Given the description of an element on the screen output the (x, y) to click on. 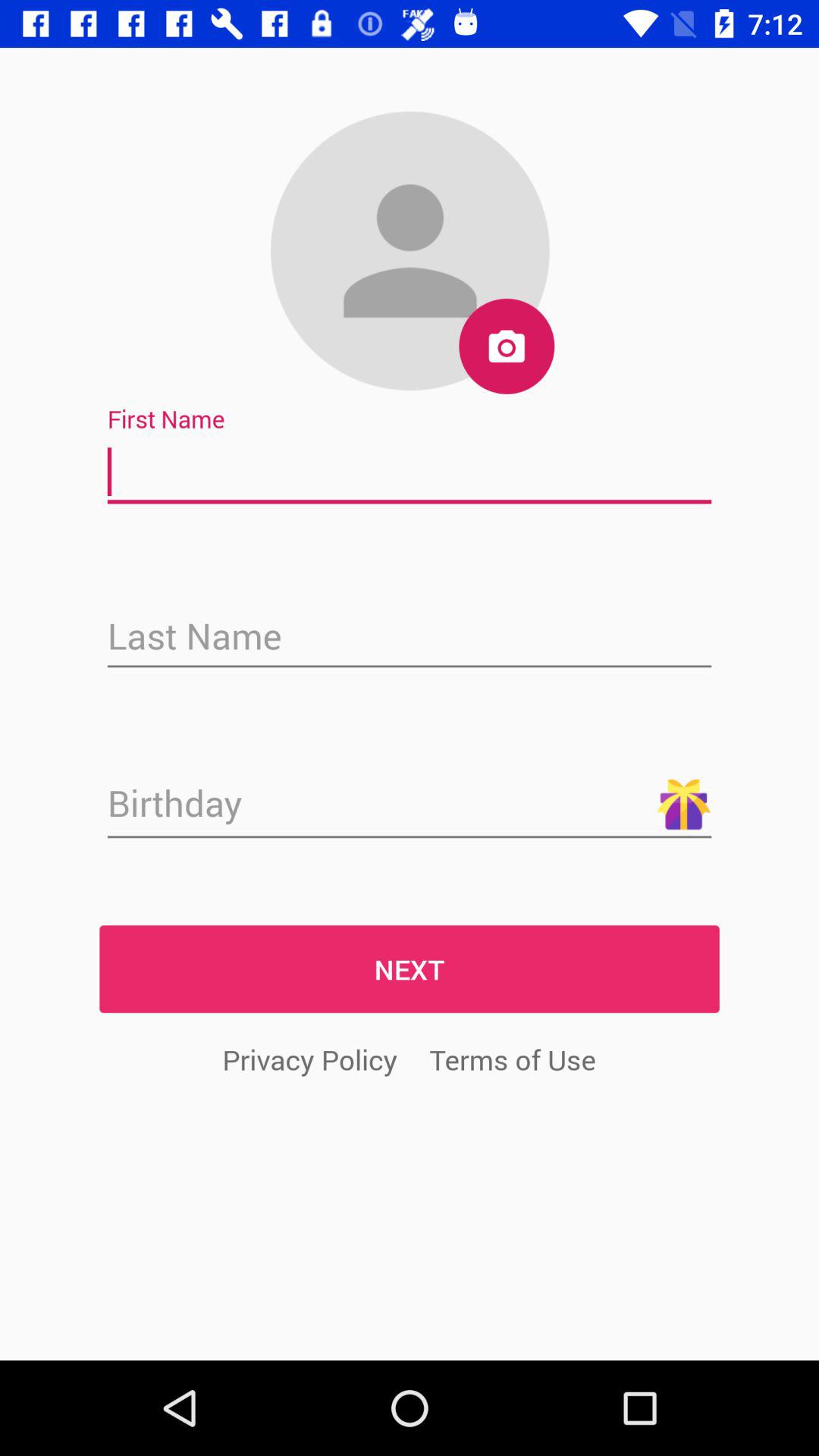
click to enter first name (409, 472)
